Given the description of an element on the screen output the (x, y) to click on. 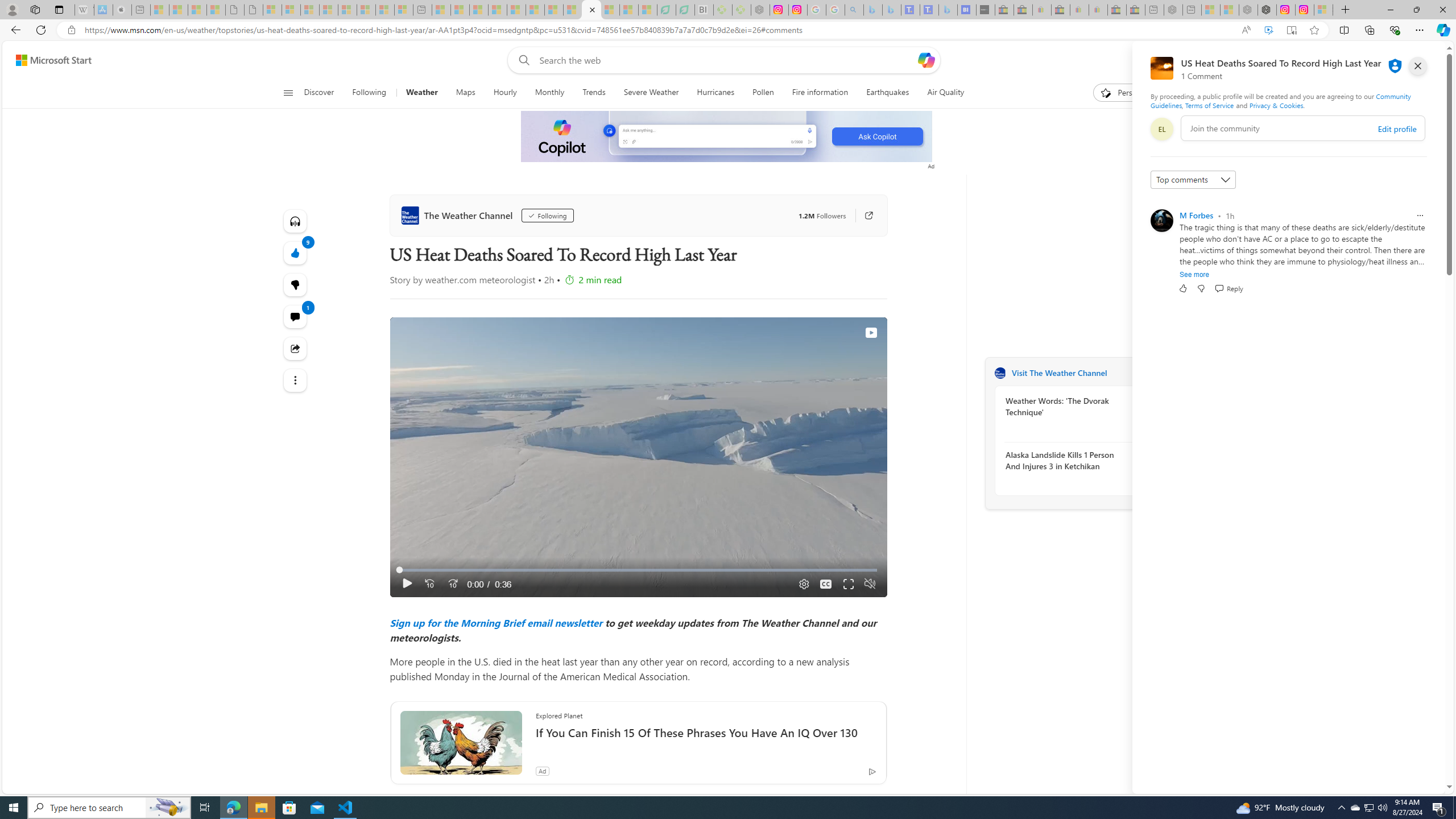
The Weather Channel (458, 215)
Weather (421, 92)
Listen to this article (295, 220)
Privacy & Cookies (1276, 104)
The Weather Channel (1000, 372)
Nordace - Summer Adventures 2024 - Sleeping (1248, 9)
Play (406, 583)
Captions (825, 583)
Earthquakes (888, 92)
Air Quality (940, 92)
